Given the description of an element on the screen output the (x, y) to click on. 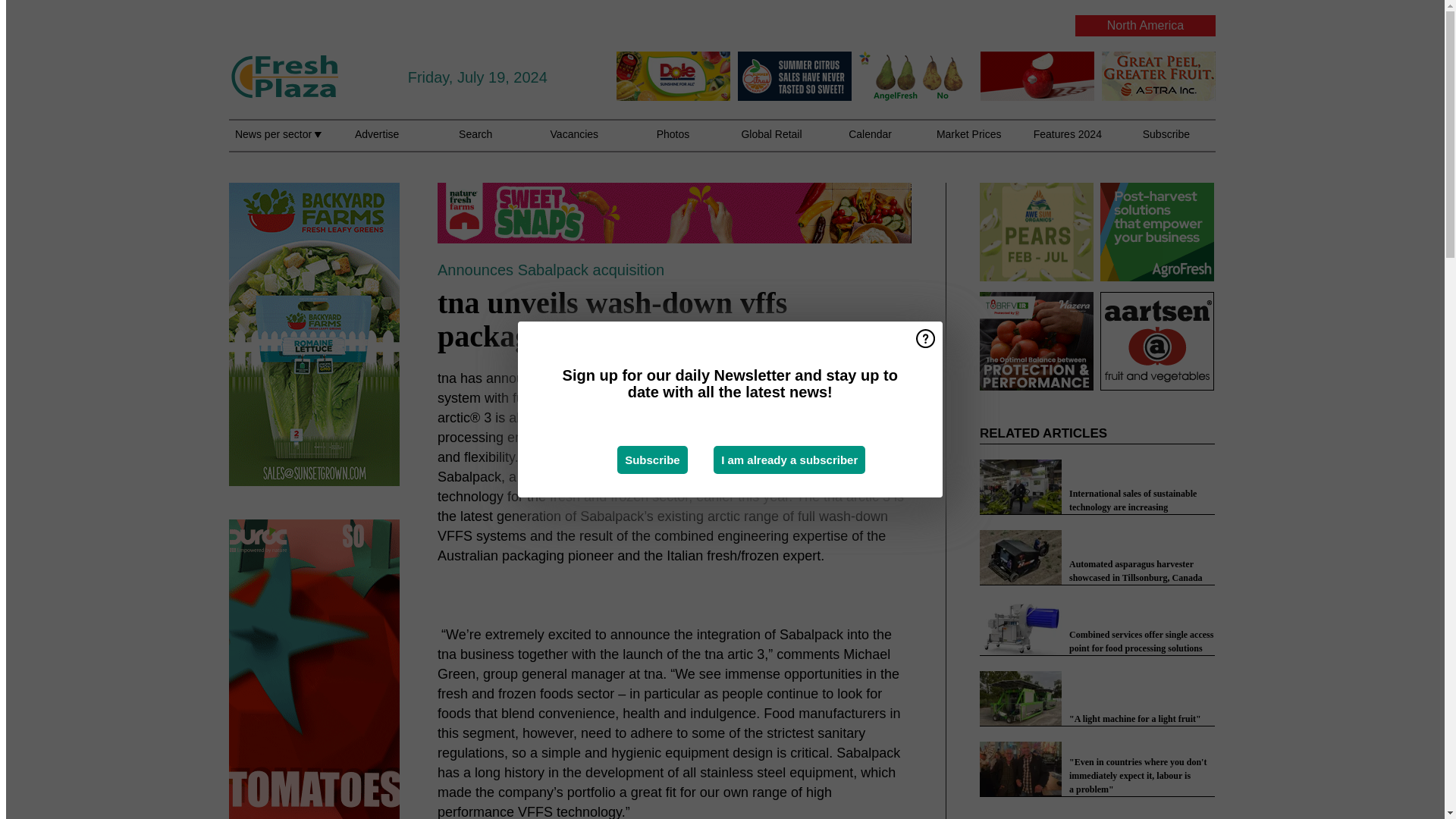
I am already a subscriber (788, 459)
Subscribe (652, 459)
News per sector (277, 142)
